Given the description of an element on the screen output the (x, y) to click on. 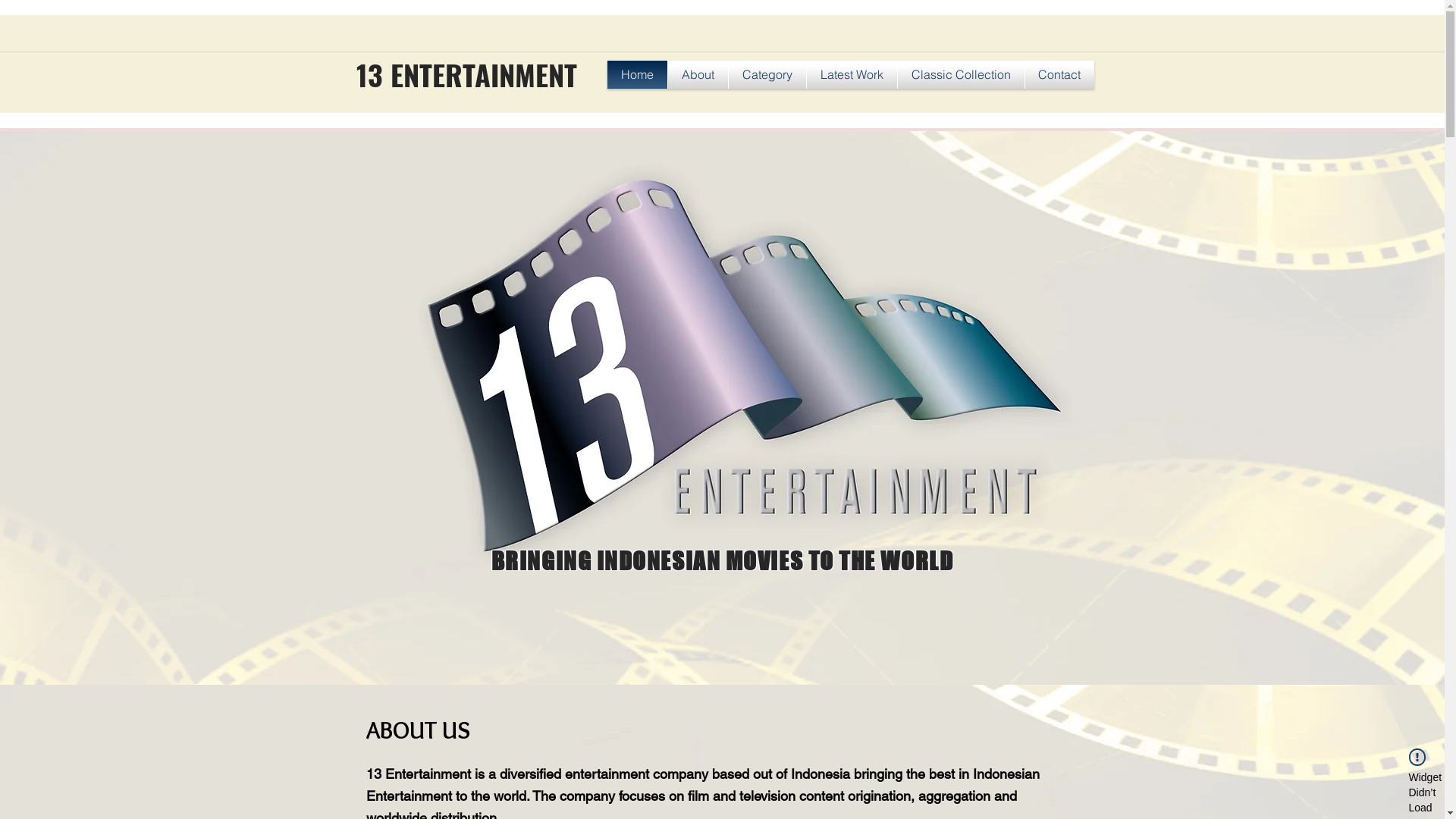
Classic Collection Element type: text (960, 74)
About Element type: text (697, 74)
Latest Work Element type: text (851, 74)
Contact Element type: text (1059, 74)
Category Element type: text (766, 74)
Home Element type: text (636, 74)
